Given the description of an element on the screen output the (x, y) to click on. 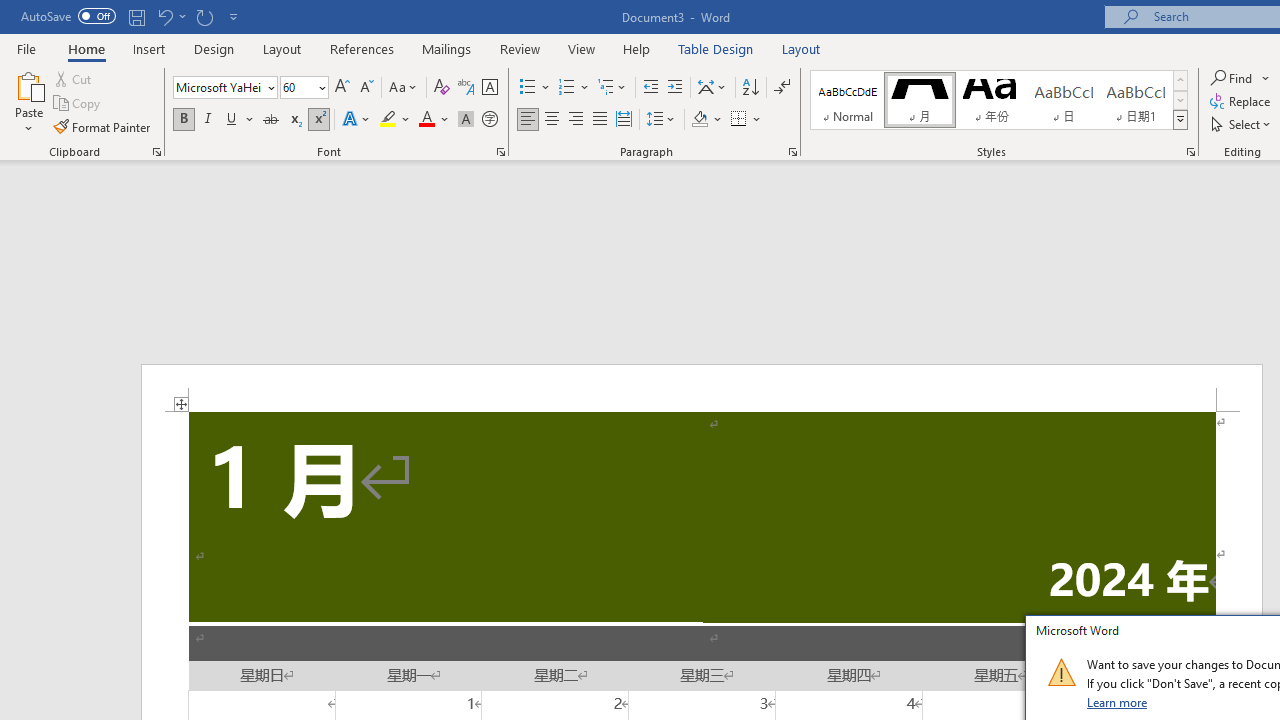
Repeat Superscript (204, 15)
Undo Superscript (164, 15)
